Given the description of an element on the screen output the (x, y) to click on. 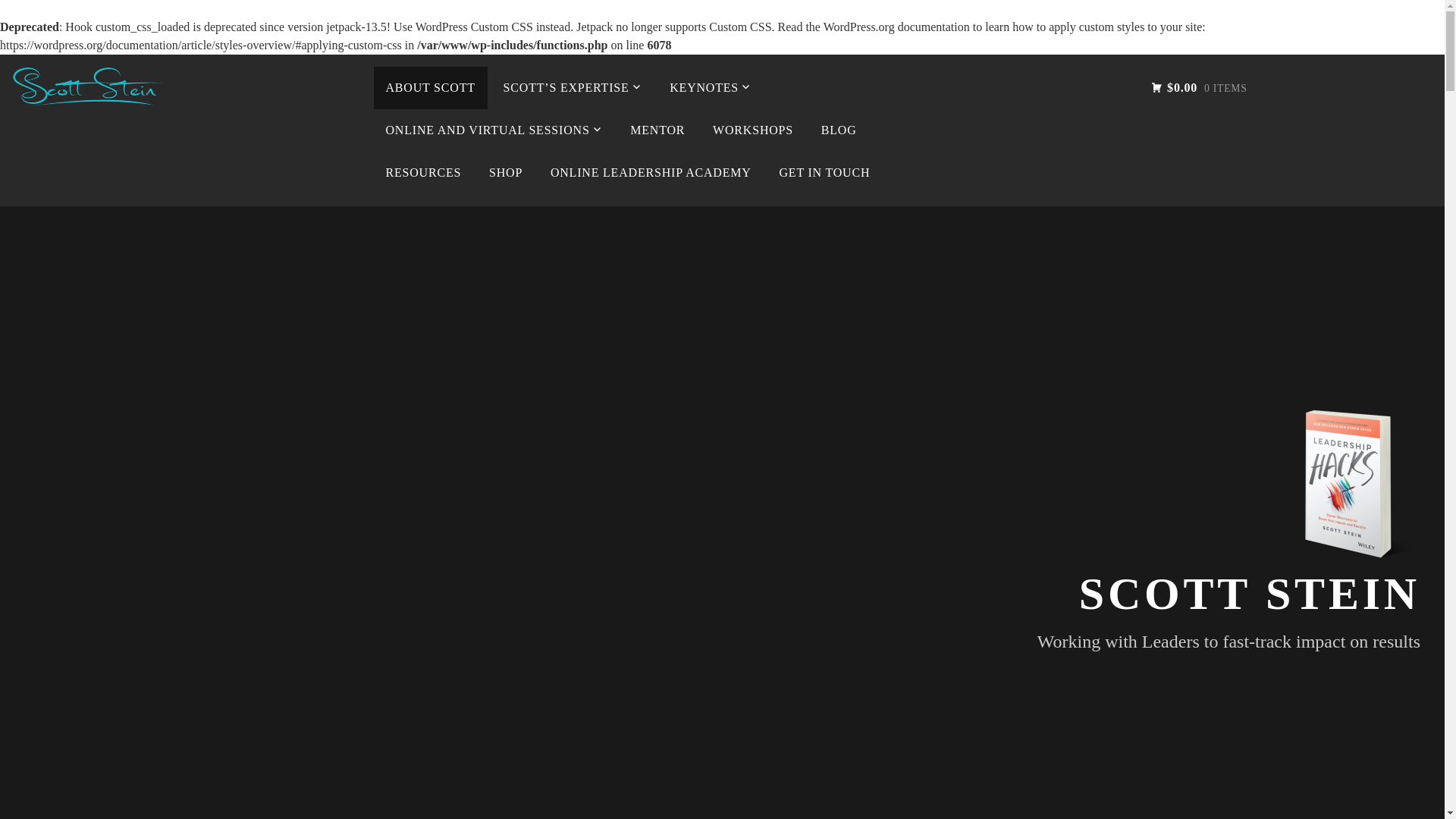
WORKSHOPS (752, 129)
GET IN TOUCH (824, 172)
View your shopping cart (1198, 87)
ABOUT SCOTT (429, 87)
MENTOR (657, 129)
RESOURCES (422, 172)
ONLINE AND VIRTUAL SESSIONS (493, 129)
ONLINE LEADERSHIP ACADEMY (650, 172)
KEYNOTES (710, 87)
SCOTT STEIN (1249, 593)
SHOP (505, 172)
BLOG (839, 129)
